Given the description of an element on the screen output the (x, y) to click on. 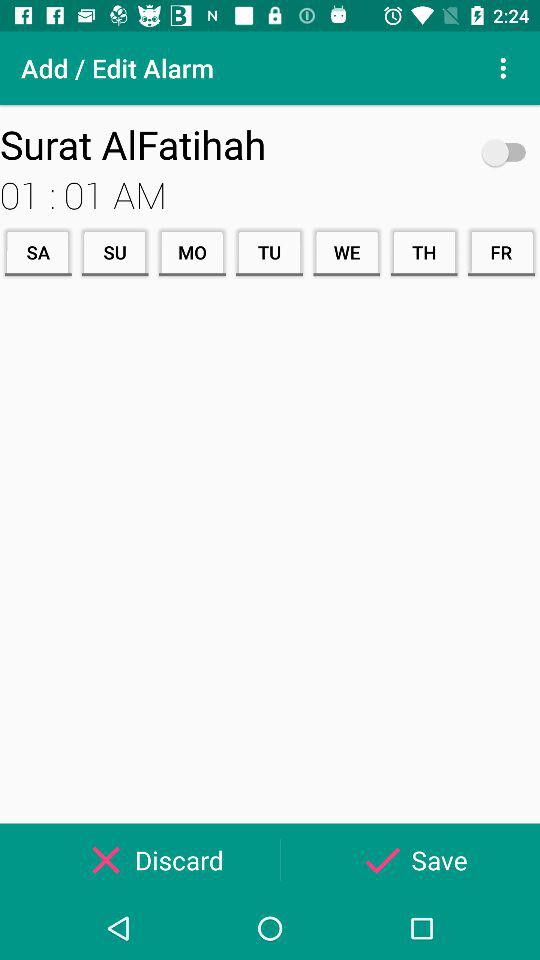
turn off the item below 01 : 01 am icon (346, 251)
